Given the description of an element on the screen output the (x, y) to click on. 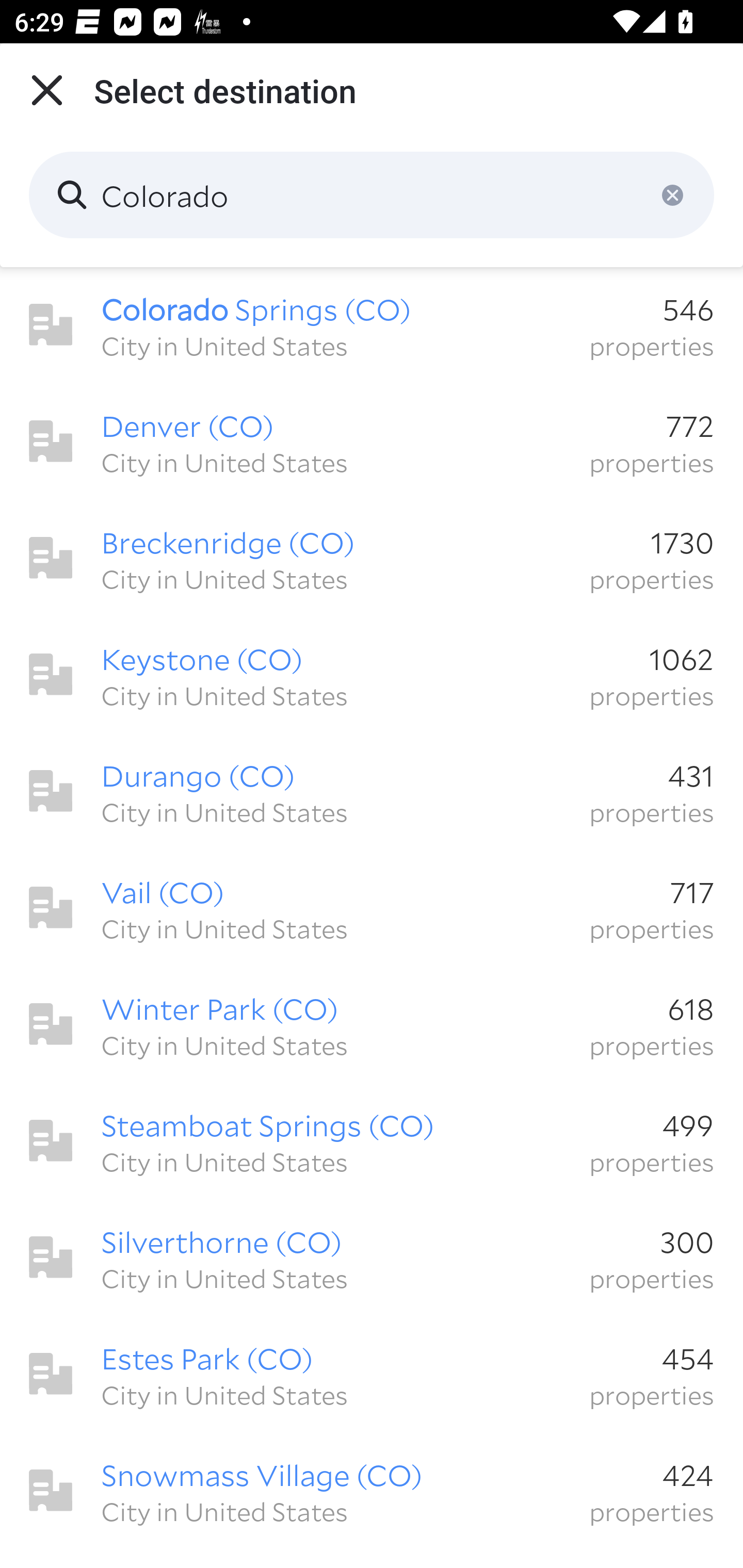
Colorado (371, 195)
Denver (CO) 772 City in United States properties (371, 442)
Durango (CO) 431 City in United States properties (371, 791)
Vail (CO) 717 City in United States properties (371, 907)
